Given the description of an element on the screen output the (x, y) to click on. 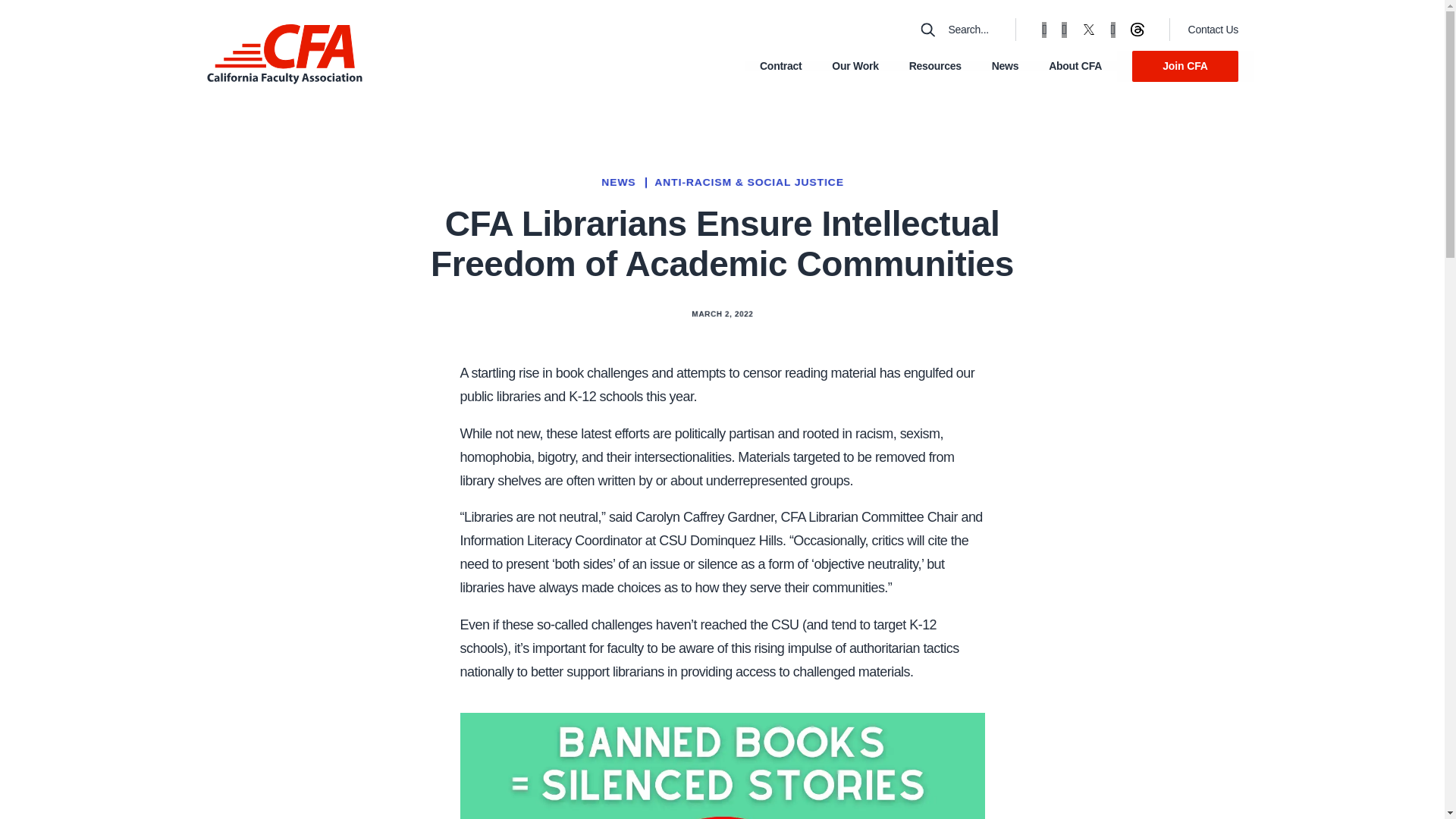
Twitter (1087, 29)
Link to homepage (283, 54)
Contact Us (1212, 29)
Our Work (854, 67)
Contract (781, 67)
NEWS (617, 182)
Resources (934, 67)
Threads (1136, 28)
Twitter (1088, 28)
Join CFA (1184, 65)
